Given the description of an element on the screen output the (x, y) to click on. 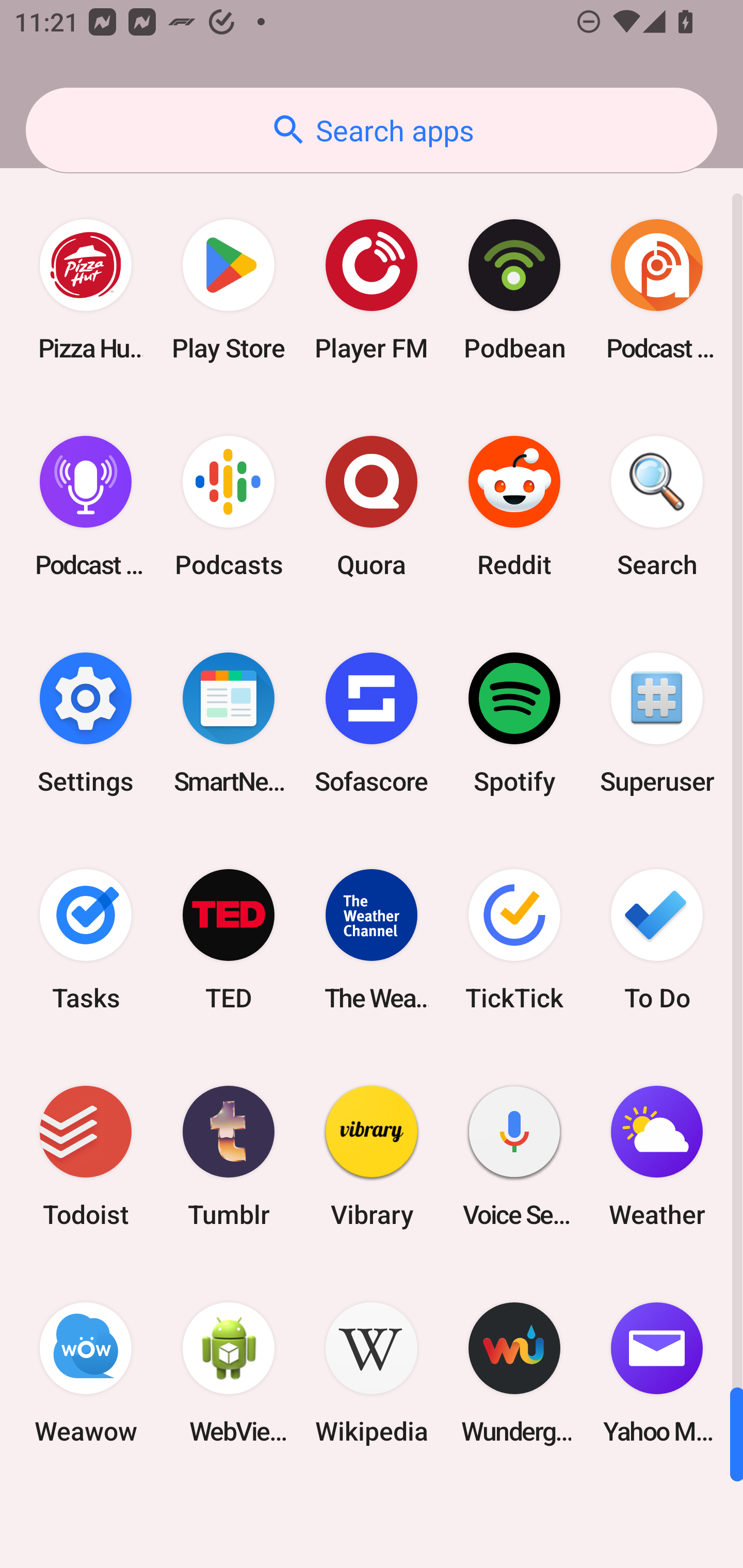
  Search apps (371, 130)
Pizza Hut HK & Macau (85, 289)
Play Store (228, 289)
Player FM (371, 289)
Podbean (514, 289)
Podcast Addict (656, 289)
Podcast Player (85, 506)
Podcasts (228, 506)
Quora (371, 506)
Reddit (514, 506)
Search (656, 506)
Settings (85, 722)
SmartNews (228, 722)
Sofascore (371, 722)
Spotify (514, 722)
Superuser (656, 722)
Tasks (85, 939)
TED (228, 939)
The Weather Channel (371, 939)
TickTick (514, 939)
To Do (656, 939)
Todoist (85, 1156)
Tumblr (228, 1156)
Vibrary (371, 1156)
Voice Search (514, 1156)
Weather (656, 1156)
Weawow (85, 1373)
WebView Browser Tester (228, 1373)
Wikipedia (371, 1373)
Wunderground (514, 1373)
Yahoo Mail (656, 1373)
